Given the description of an element on the screen output the (x, y) to click on. 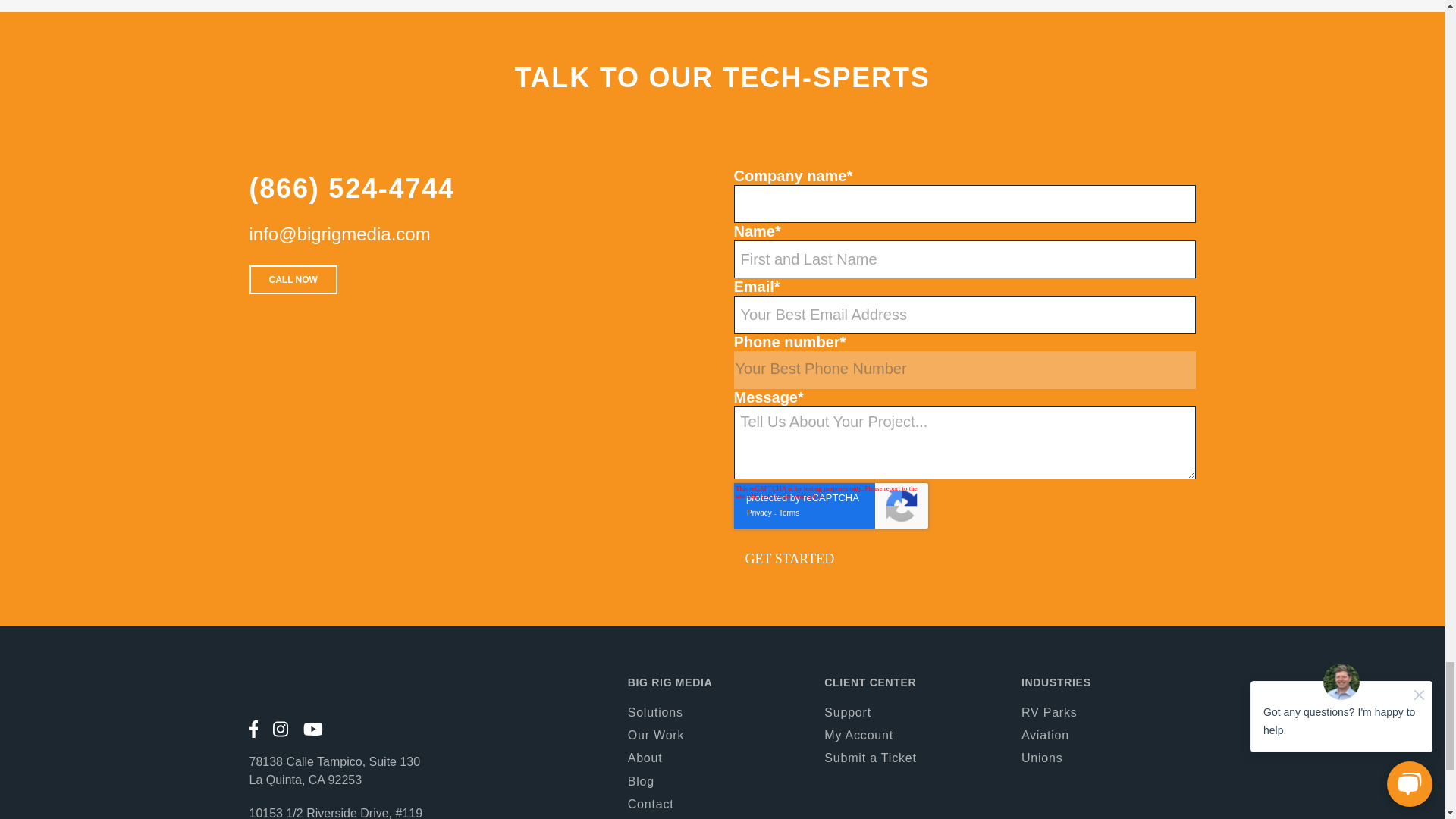
GET STARTED (789, 558)
CALL NOW (292, 279)
Big Rig Media (366, 689)
Check Us Out on Youtube (312, 728)
GET STARTED (789, 558)
reCAPTCHA (830, 505)
Solutions (654, 712)
